Given the description of an element on the screen output the (x, y) to click on. 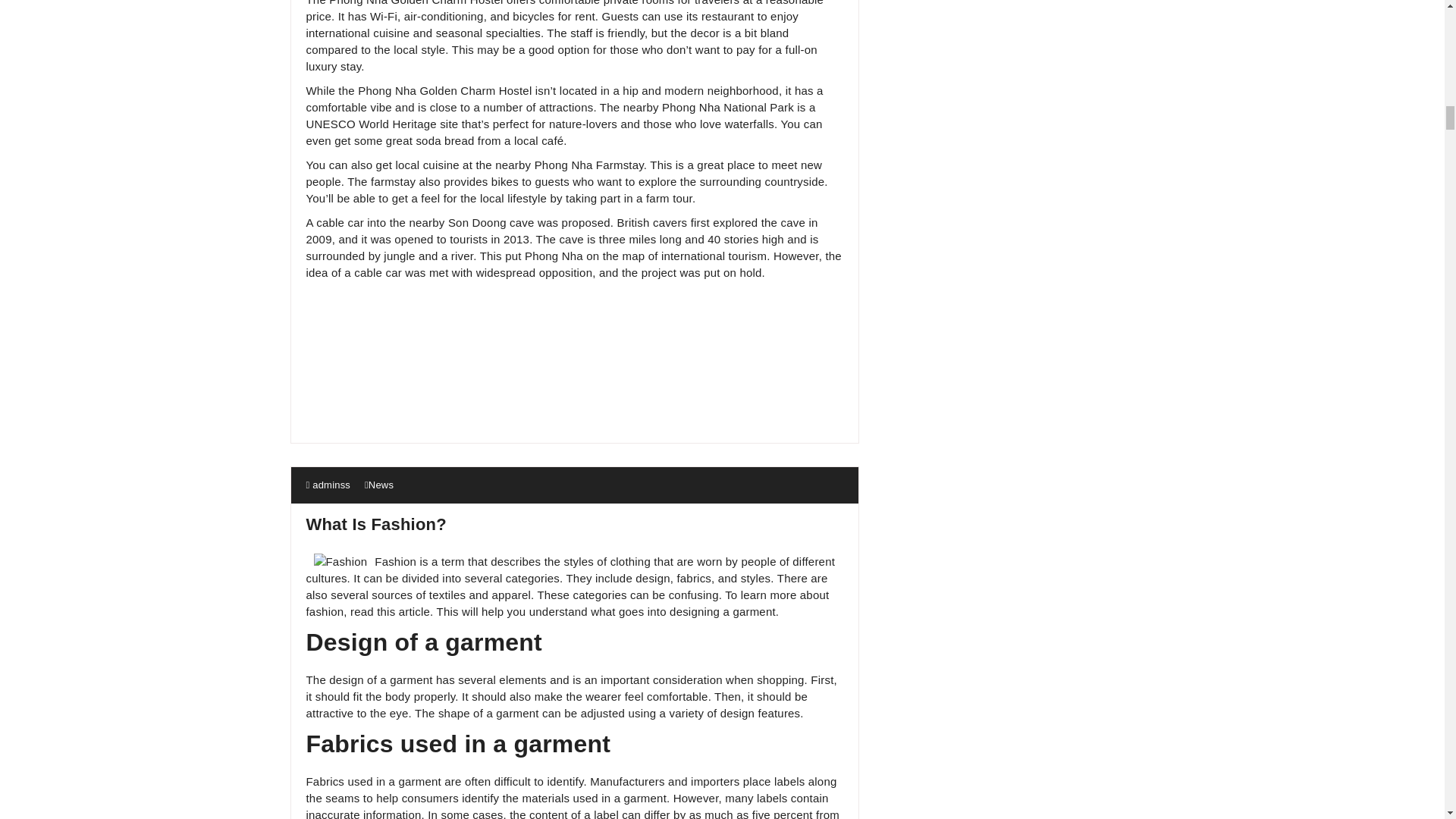
What Is Fashion? (375, 524)
News (380, 484)
adminss (327, 484)
